Given the description of an element on the screen output the (x, y) to click on. 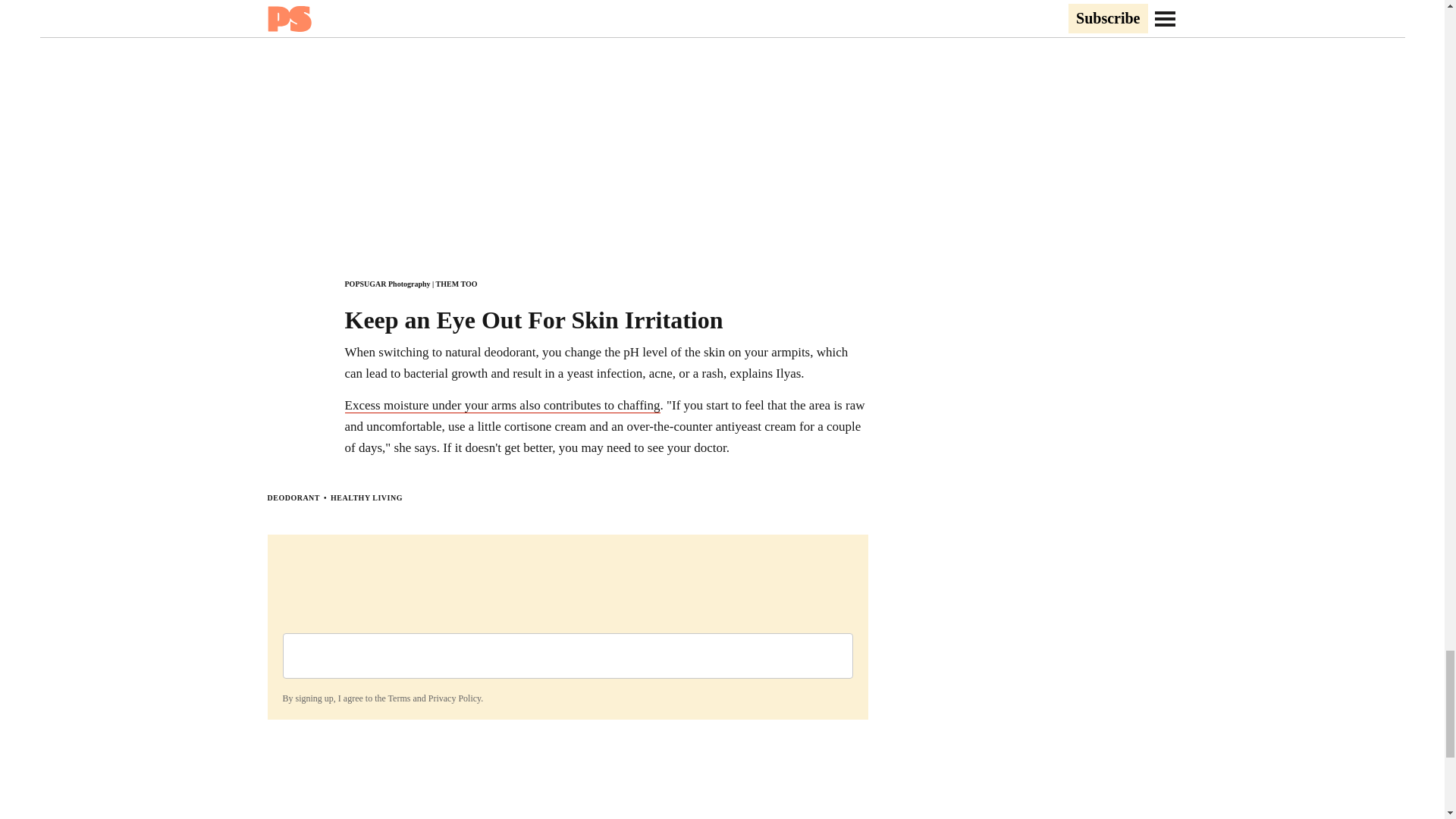
Privacy Policy. (455, 697)
HEALTHY LIVING (366, 497)
Excess moisture under your arms also contributes to chaffing (501, 405)
Terms (399, 697)
DEODORANT (293, 497)
